Given the description of an element on the screen output the (x, y) to click on. 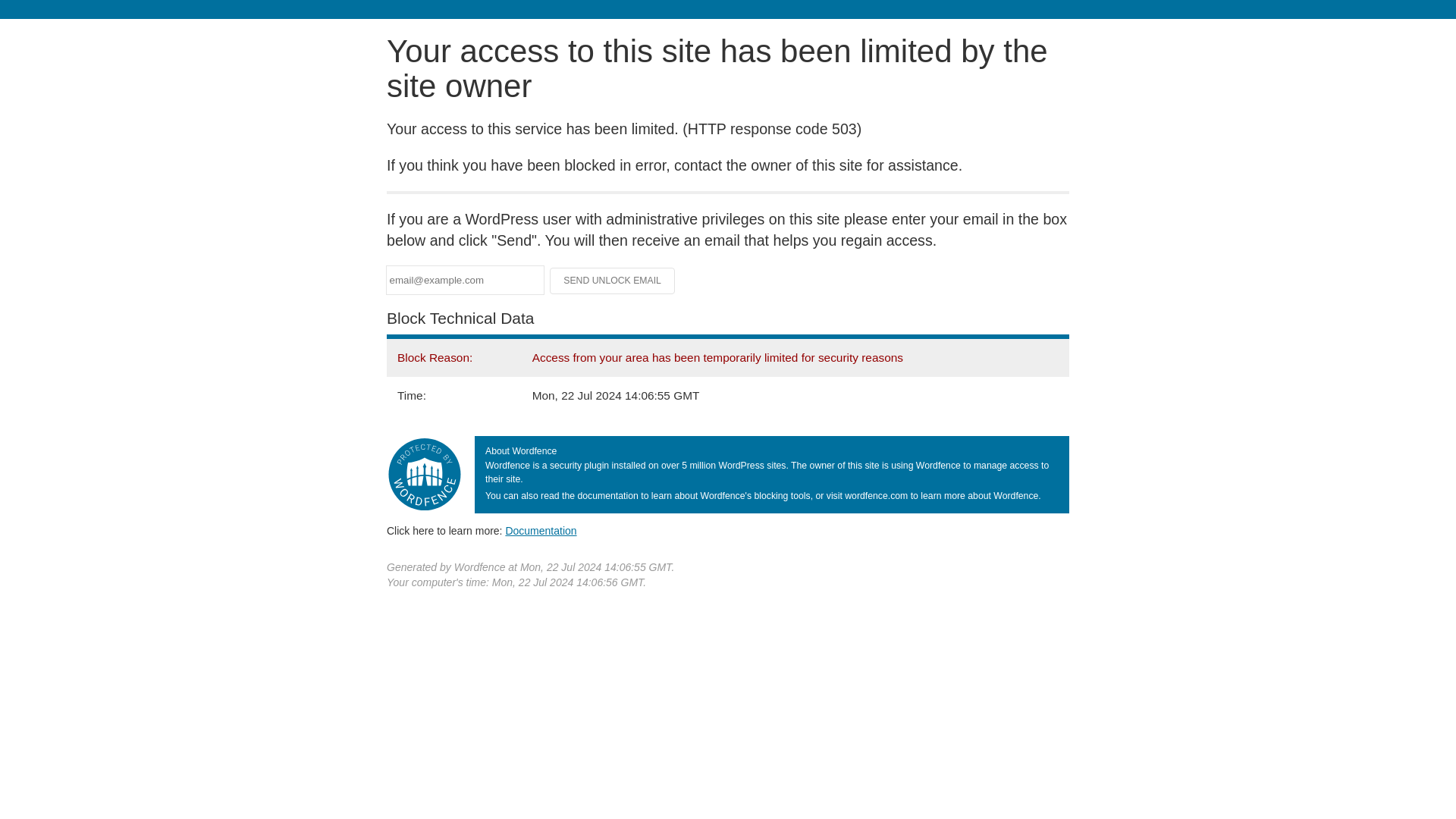
Send Unlock Email (612, 280)
Send Unlock Email (612, 280)
